Given the description of an element on the screen output the (x, y) to click on. 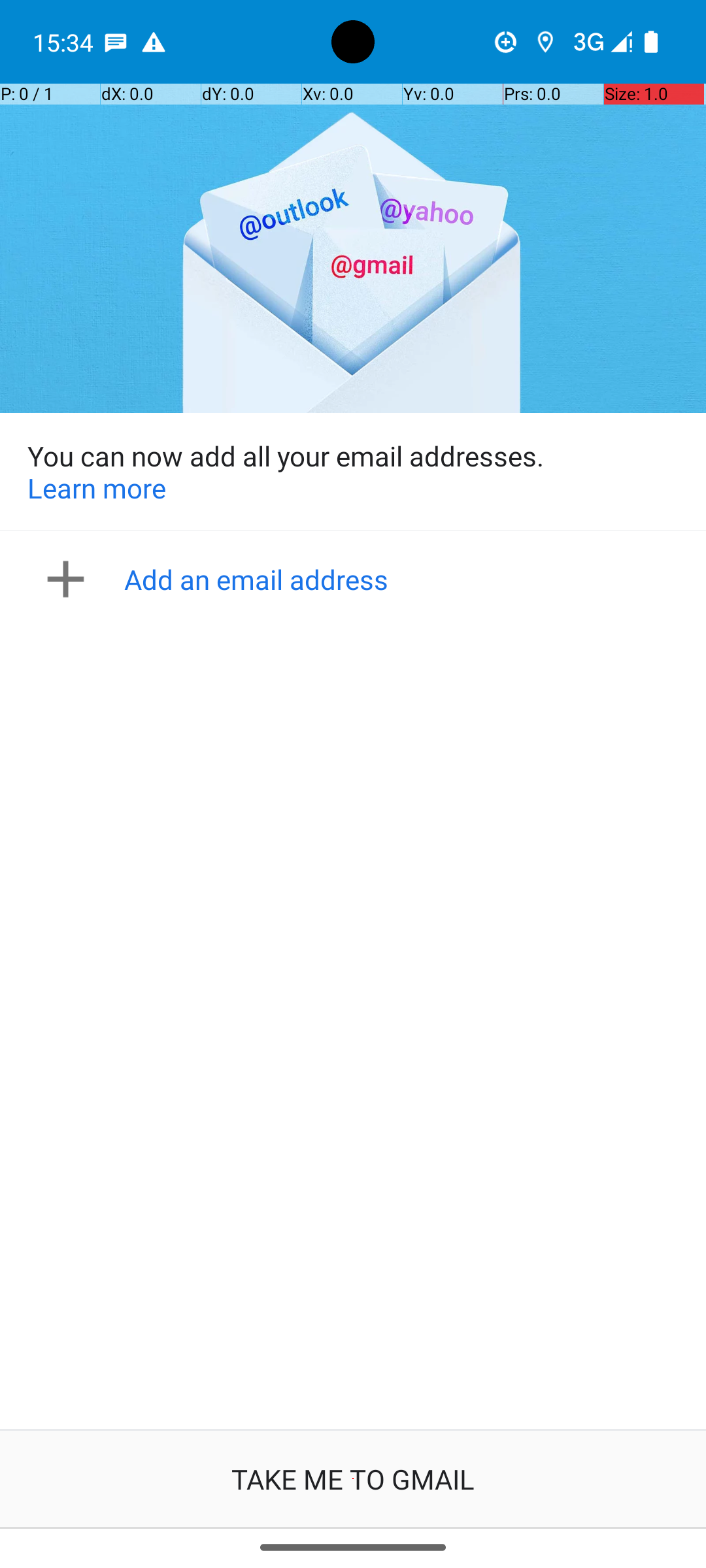
You can now add all your email addresses. Learn more Element type: android.widget.TextView (352, 471)
TAKE ME TO GMAIL Element type: android.widget.TextView (353, 1478)
Add an email address Element type: android.widget.TextView (356, 579)
Data Saver is on Element type: android.widget.ImageView (505, 41)
Location requests active Element type: android.widget.ImageView (545, 41)
